Given the description of an element on the screen output the (x, y) to click on. 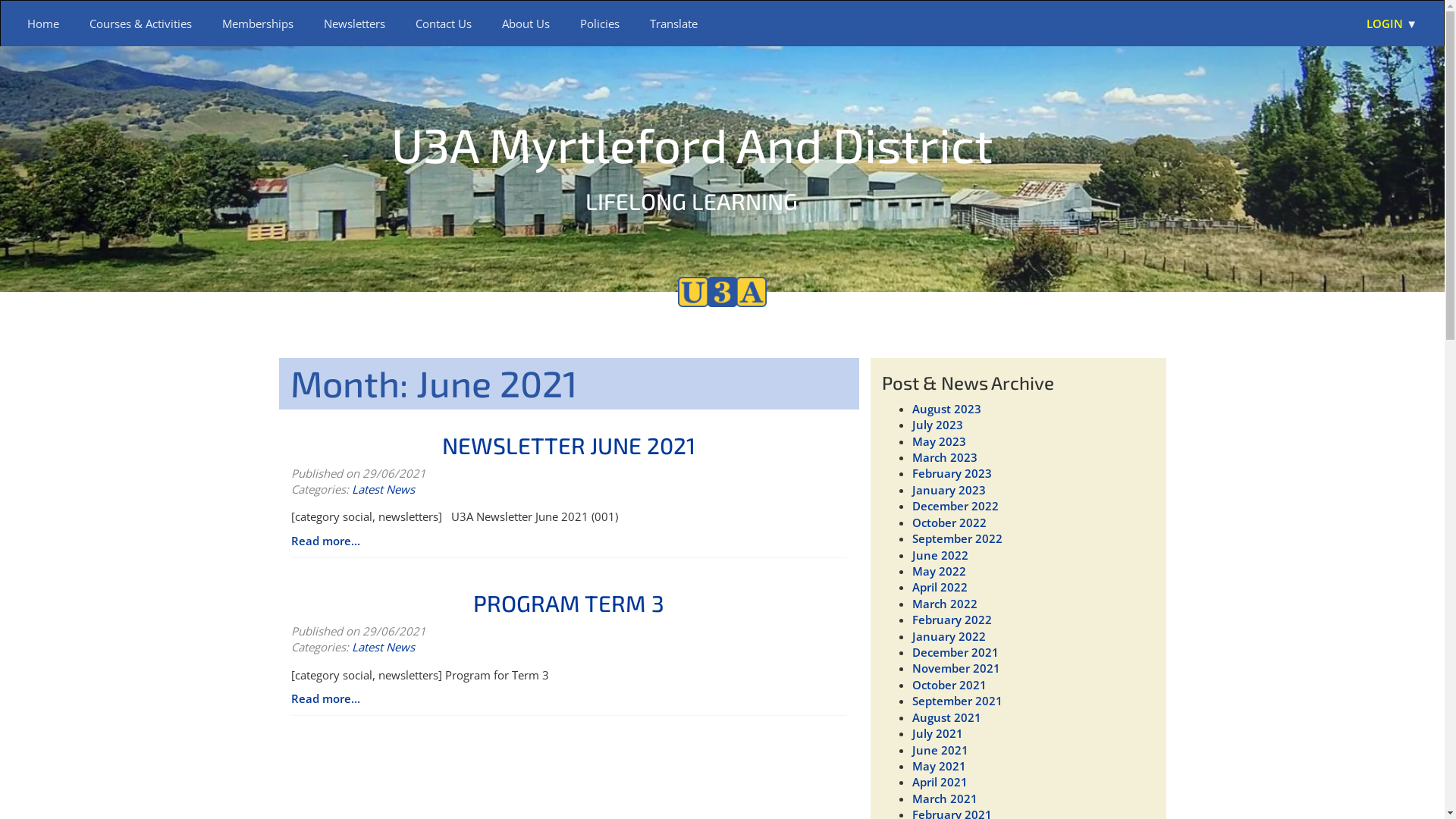
Latest News Element type: text (382, 646)
Contact Us Element type: text (443, 23)
May 2021 Element type: text (938, 765)
August 2023 Element type: text (945, 408)
July 2023 Element type: text (936, 424)
March 2022 Element type: text (943, 603)
September 2022 Element type: text (956, 538)
Policies Element type: text (599, 23)
September 2021 Element type: text (956, 700)
Translate Element type: text (673, 23)
August 2021 Element type: text (945, 716)
U3A Myrtleford And District
LIFELONG LEARNING Element type: text (691, 163)
December 2021 Element type: text (954, 651)
February 2023 Element type: text (951, 472)
Courses & Activities Element type: text (140, 23)
Memberships Element type: text (257, 23)
Read more... Element type: text (325, 540)
May 2023 Element type: text (938, 440)
March 2021 Element type: text (943, 798)
Latest News Element type: text (382, 488)
Newsletters Element type: text (354, 23)
January 2023 Element type: text (948, 489)
Home Element type: text (43, 23)
April 2021 Element type: text (938, 781)
November 2021 Element type: text (955, 667)
October 2021 Element type: text (948, 684)
February 2022 Element type: text (951, 619)
LOGIN Element type: text (1391, 23)
Read more... Element type: text (325, 698)
April 2022 Element type: text (938, 586)
October 2022 Element type: text (948, 522)
January 2022 Element type: text (948, 635)
March 2023 Element type: text (943, 456)
December 2022 Element type: text (954, 505)
May 2022 Element type: text (938, 570)
About Us Element type: text (525, 23)
July 2021 Element type: text (936, 732)
PROGRAM TERM 3 Element type: text (568, 602)
June 2021 Element type: text (939, 749)
NEWSLETTER JUNE 2021 Element type: text (568, 444)
June 2022 Element type: text (939, 554)
